Given the description of an element on the screen output the (x, y) to click on. 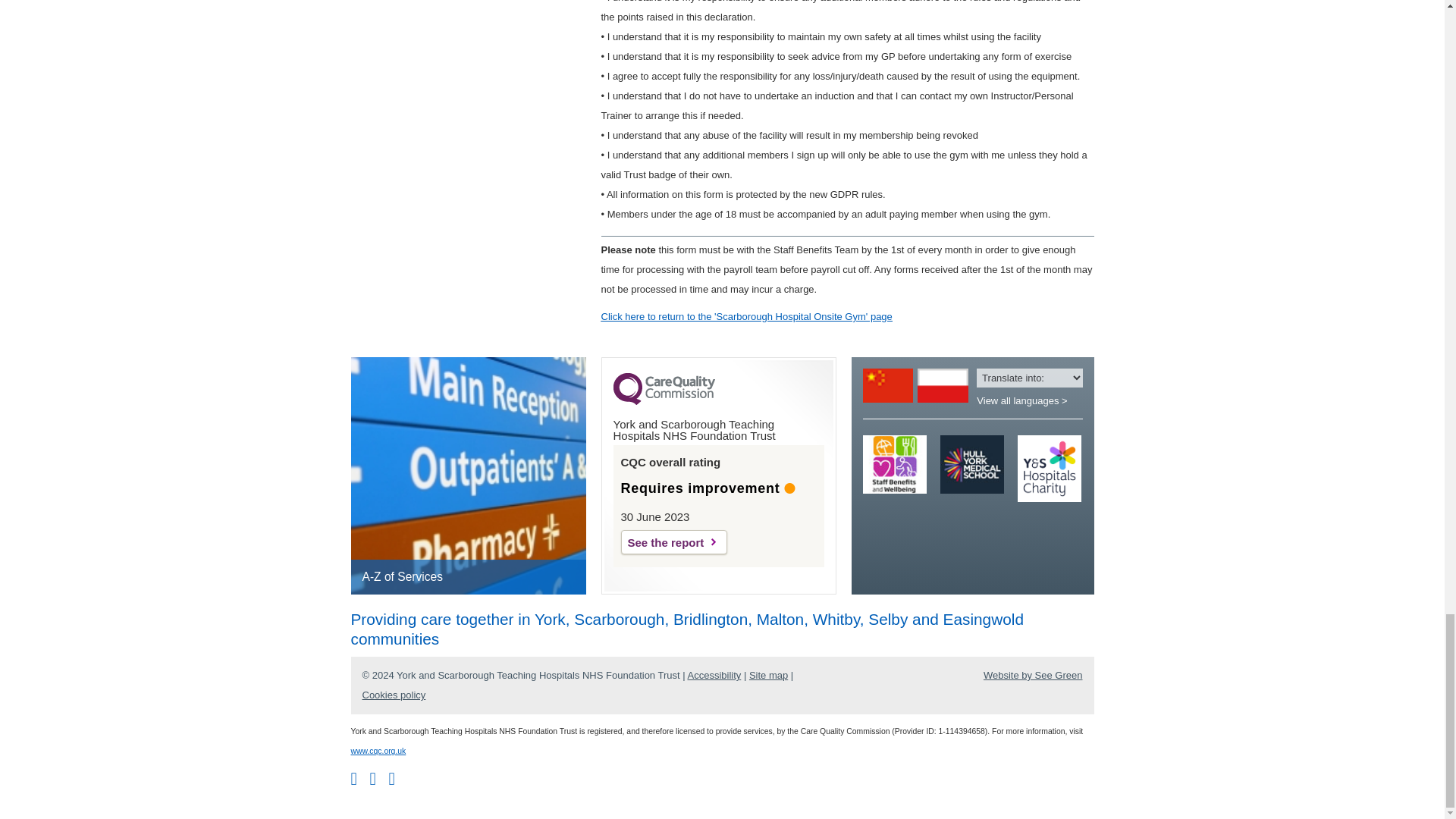
CQC Logo (663, 400)
